Given the description of an element on the screen output the (x, y) to click on. 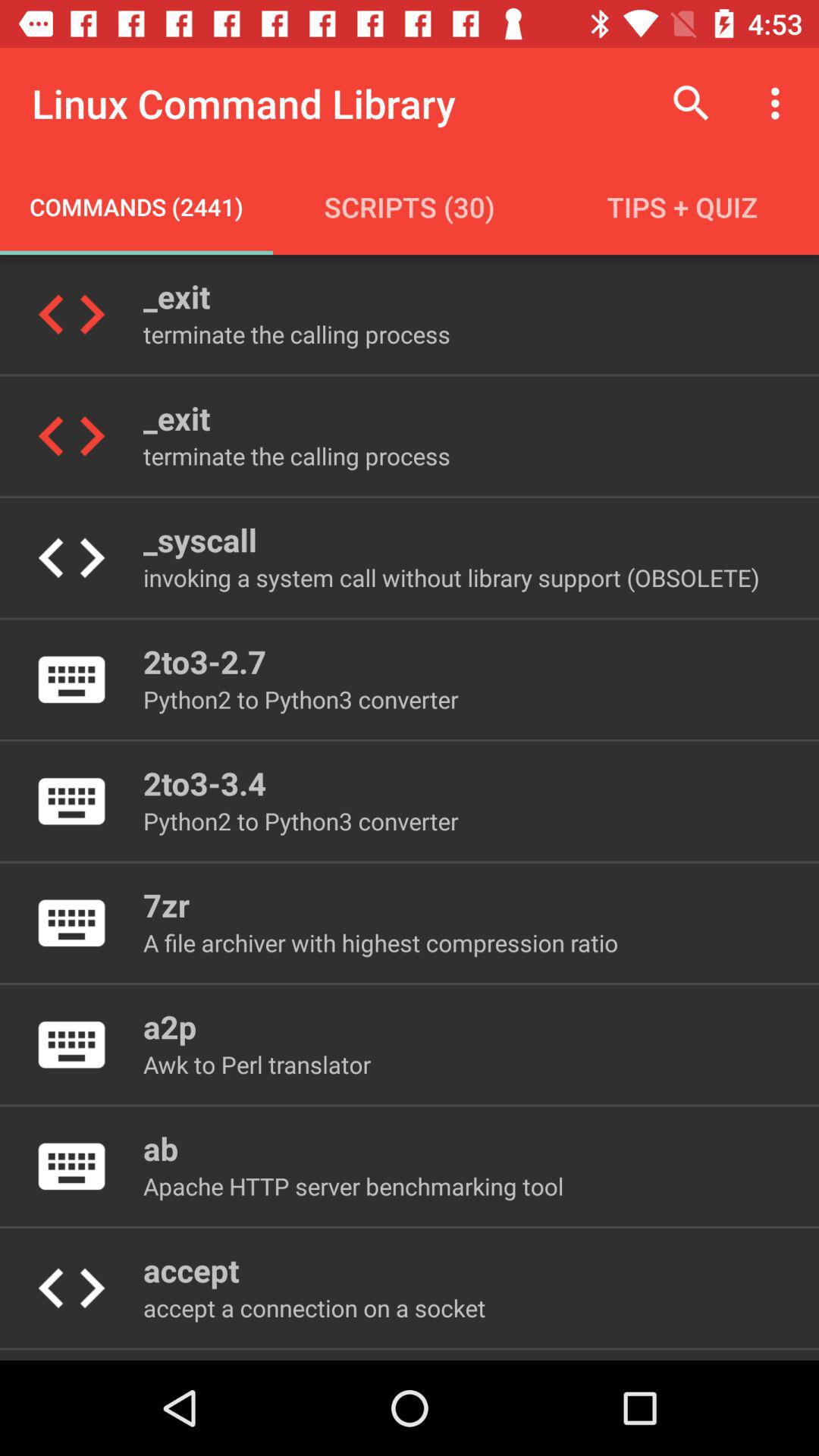
launch the item below 7zr icon (380, 942)
